Given the description of an element on the screen output the (x, y) to click on. 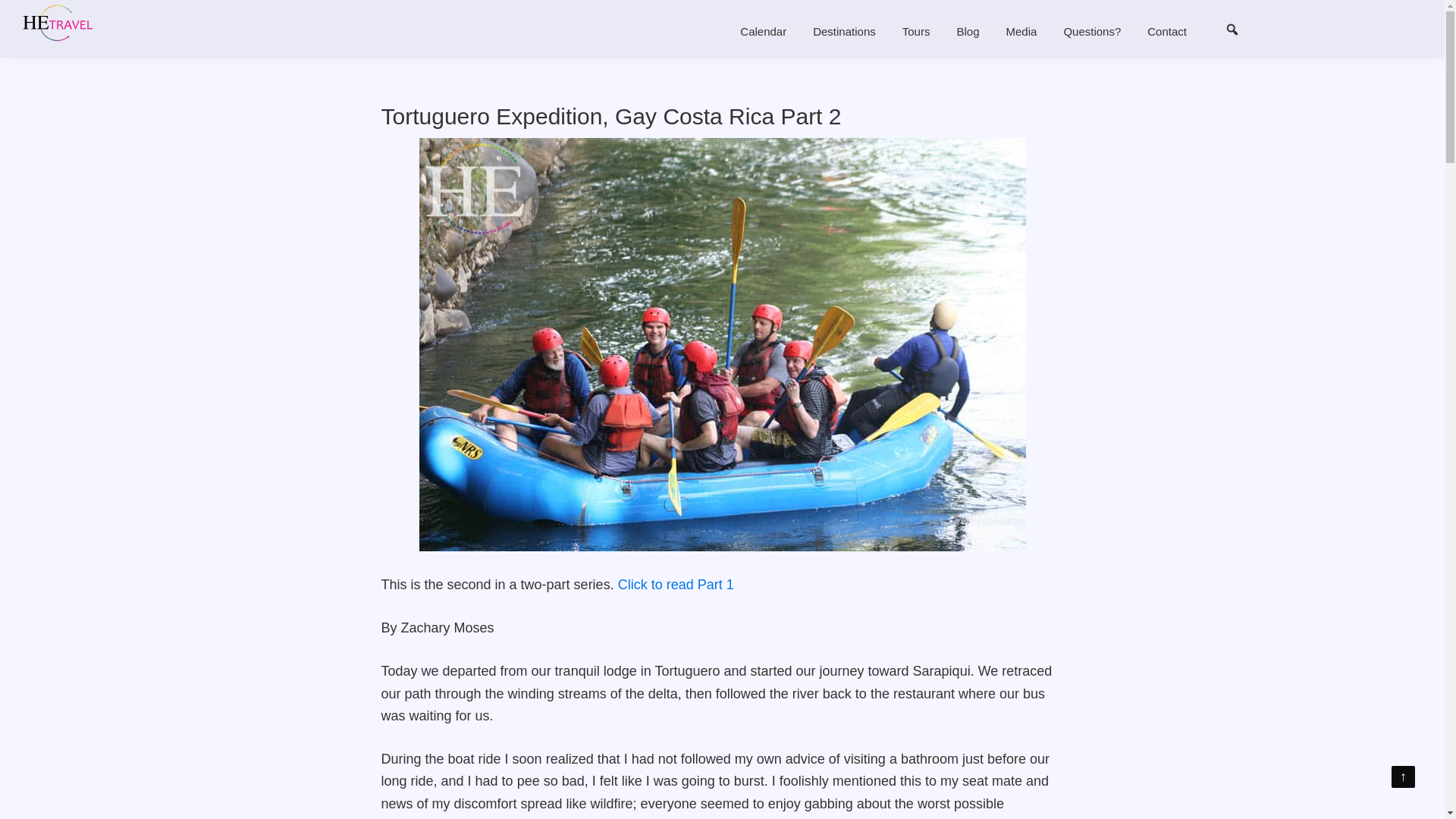
Media (1021, 30)
Tours (916, 30)
Destinations (844, 30)
Calendar (763, 30)
Tortuguero Expedition, Gay Costa Rica Part 1 (675, 584)
Blog (967, 30)
